Given the description of an element on the screen output the (x, y) to click on. 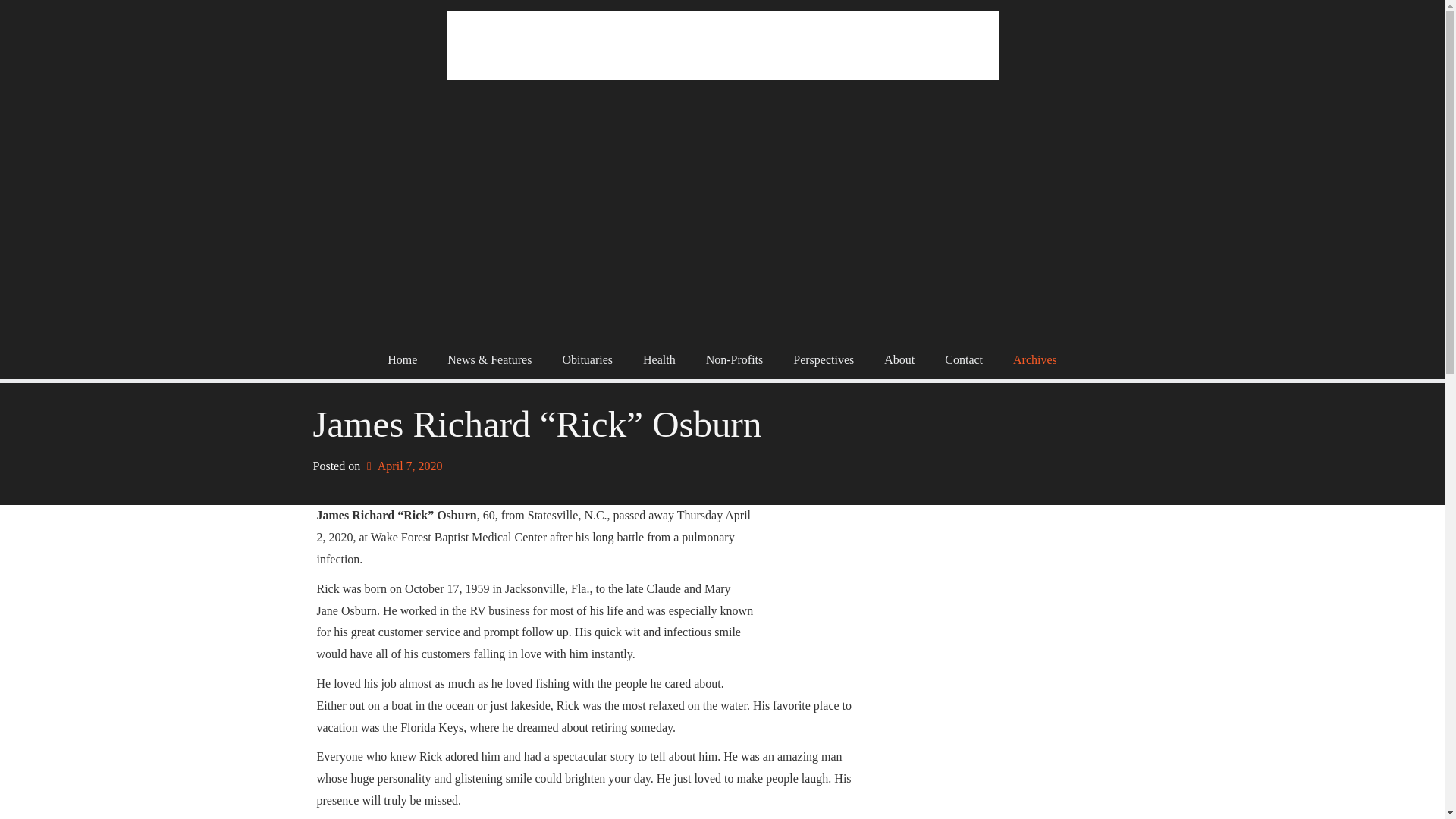
About (899, 360)
Perspectives (823, 360)
Health (658, 360)
Contact (963, 360)
Non-Profits (734, 360)
Archives (1034, 360)
April 7, 2020 (402, 465)
Home (402, 360)
Obituaries (587, 360)
